Given the description of an element on the screen output the (x, y) to click on. 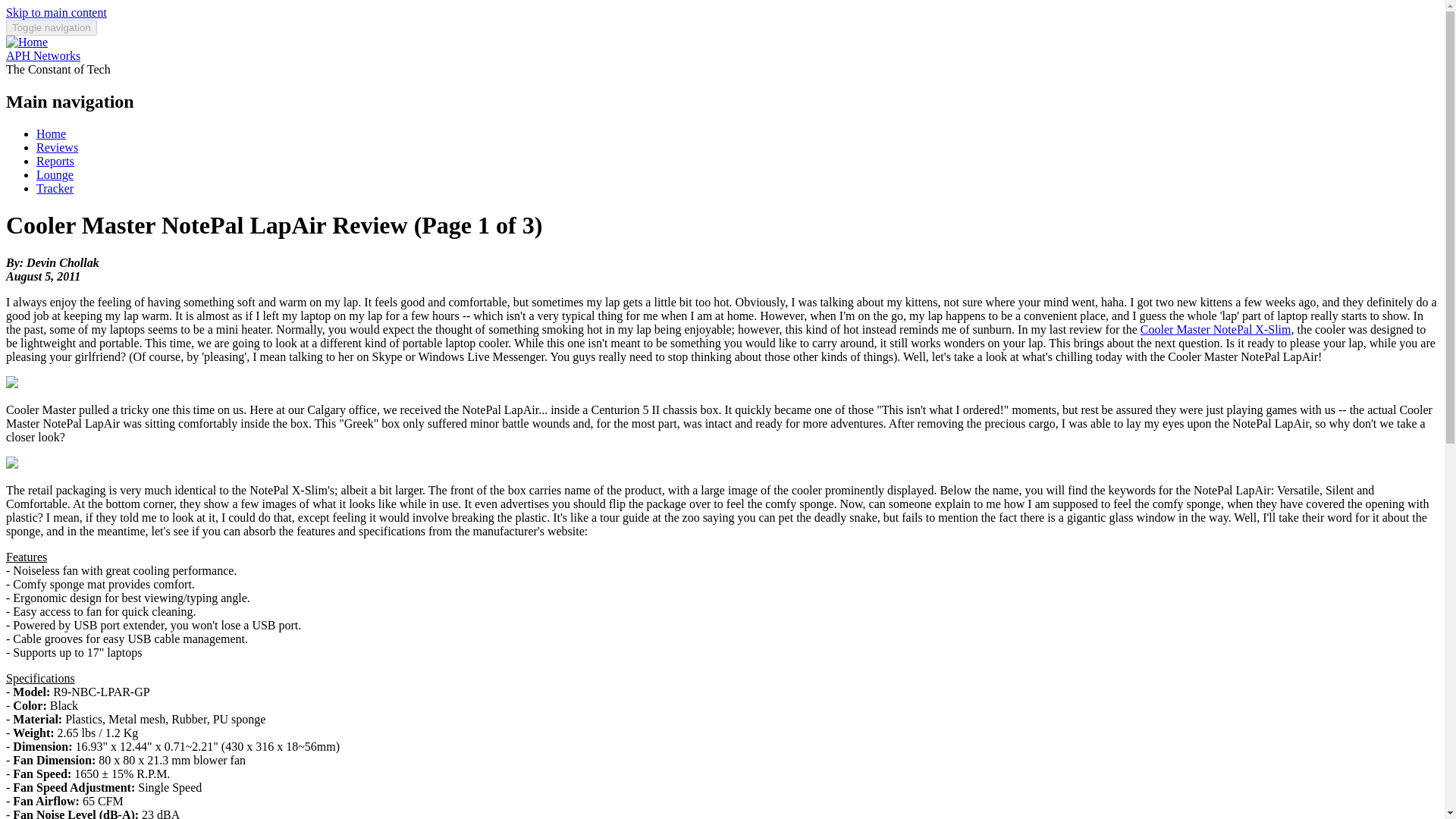
Cool products, funny stuff, tutorials (55, 174)
Home (42, 55)
See the latest review schedule (55, 187)
Lounge (55, 174)
Reviews of technology equipment (57, 146)
Skip to main content (55, 11)
Tracker (55, 187)
Reports (55, 160)
Home (26, 42)
Toggle navigation (51, 27)
Cooler Master NotePal X-Slim (1215, 328)
Reviews (57, 146)
Return to APH Networks Main (50, 133)
Reports of technology and related content (55, 160)
APH Networks (42, 55)
